Given the description of an element on the screen output the (x, y) to click on. 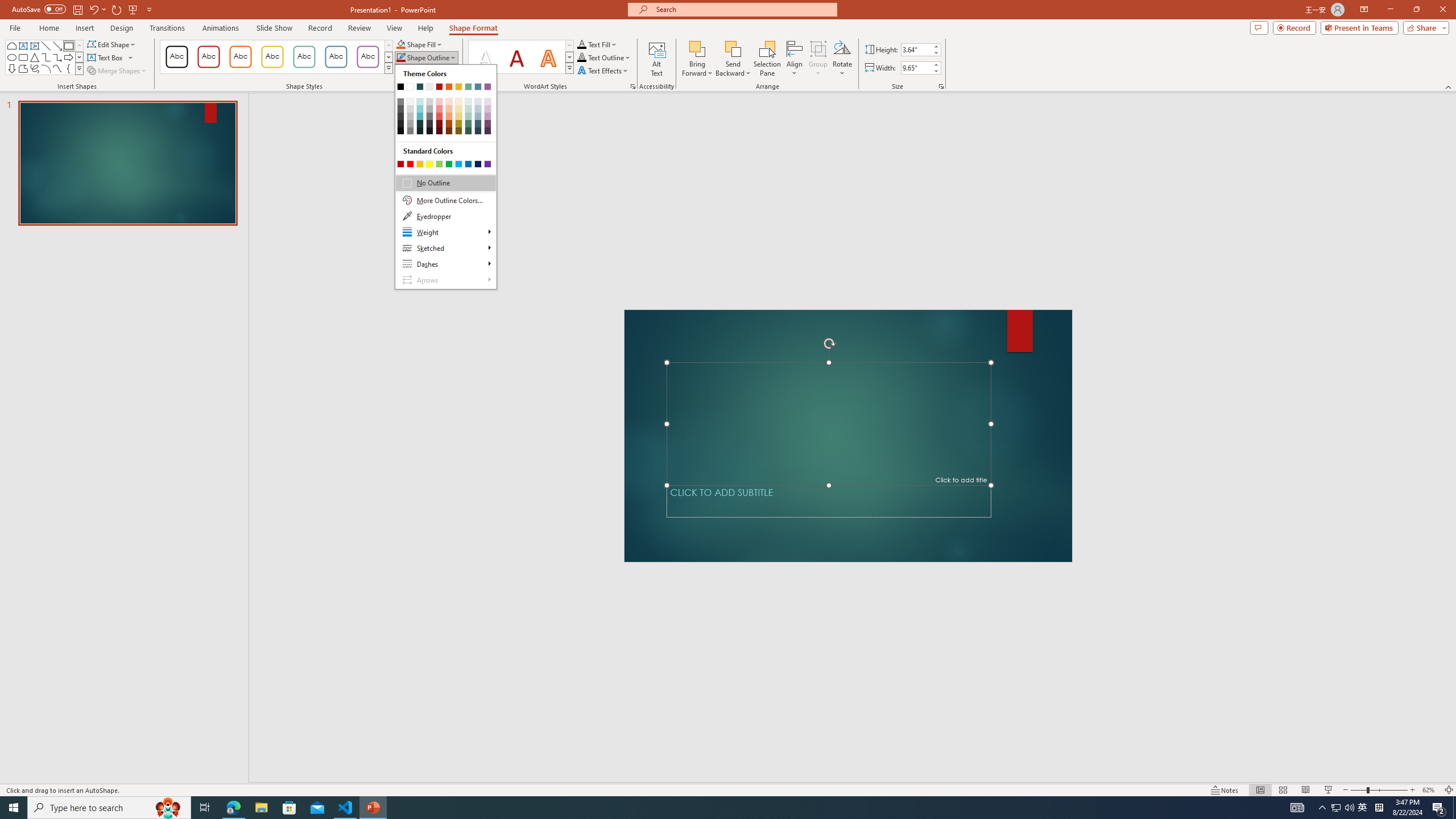
Rectangle: Top Corners Snipped (11, 45)
Shape Outline No Outline (400, 56)
Selection Pane... (767, 58)
